Given the description of an element on the screen output the (x, y) to click on. 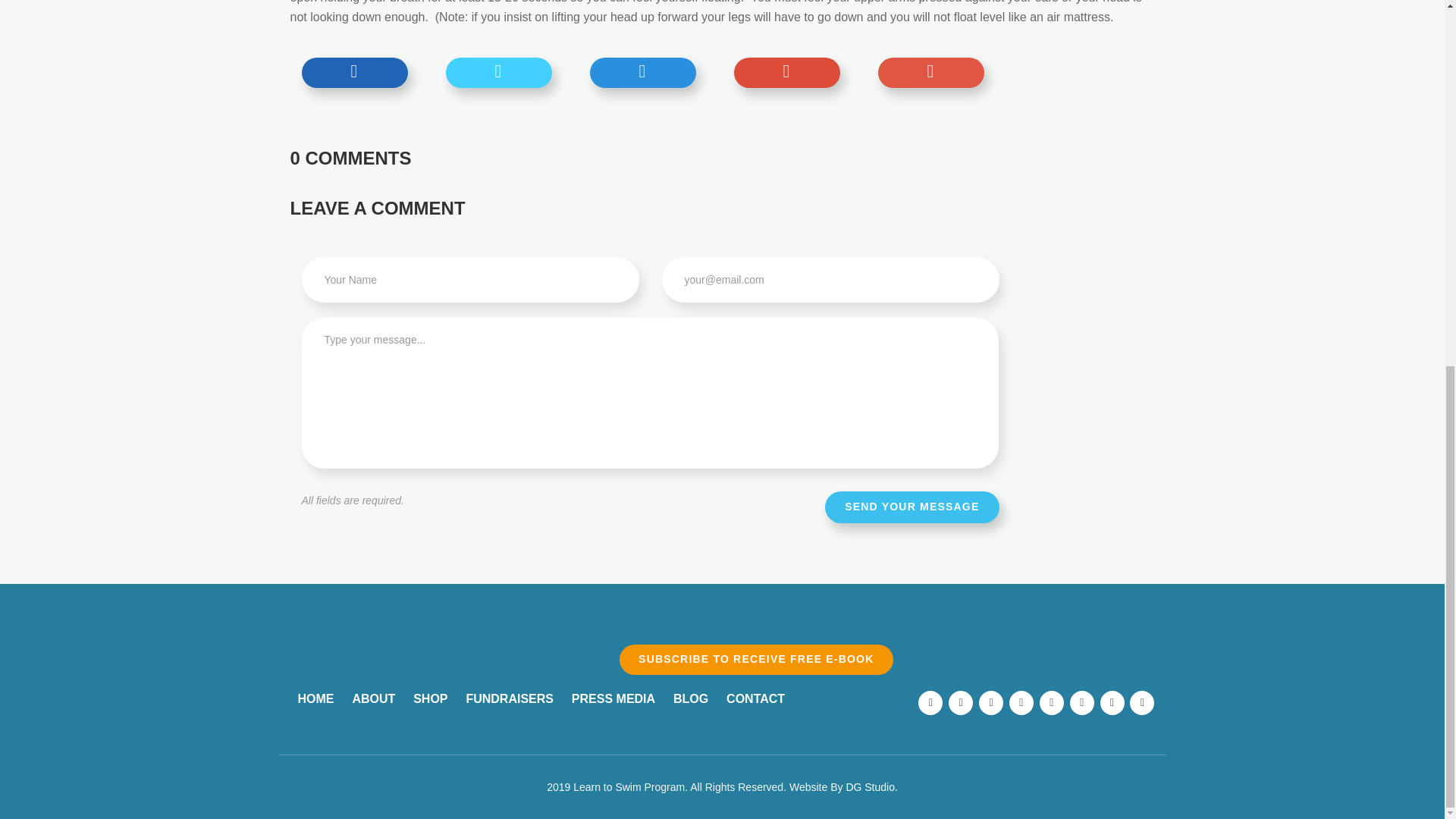
BLOG (689, 698)
SHOP (429, 698)
CONTACT (755, 698)
FUNDRAISERS (509, 698)
HOME (315, 698)
ABOUT (373, 698)
DG Studio (870, 787)
SEND YOUR MESSAGE (911, 507)
SUBSCRIBE TO RECEIVE FREE E-BOOK (756, 659)
PRESS MEDIA (613, 698)
